Given the description of an element on the screen output the (x, y) to click on. 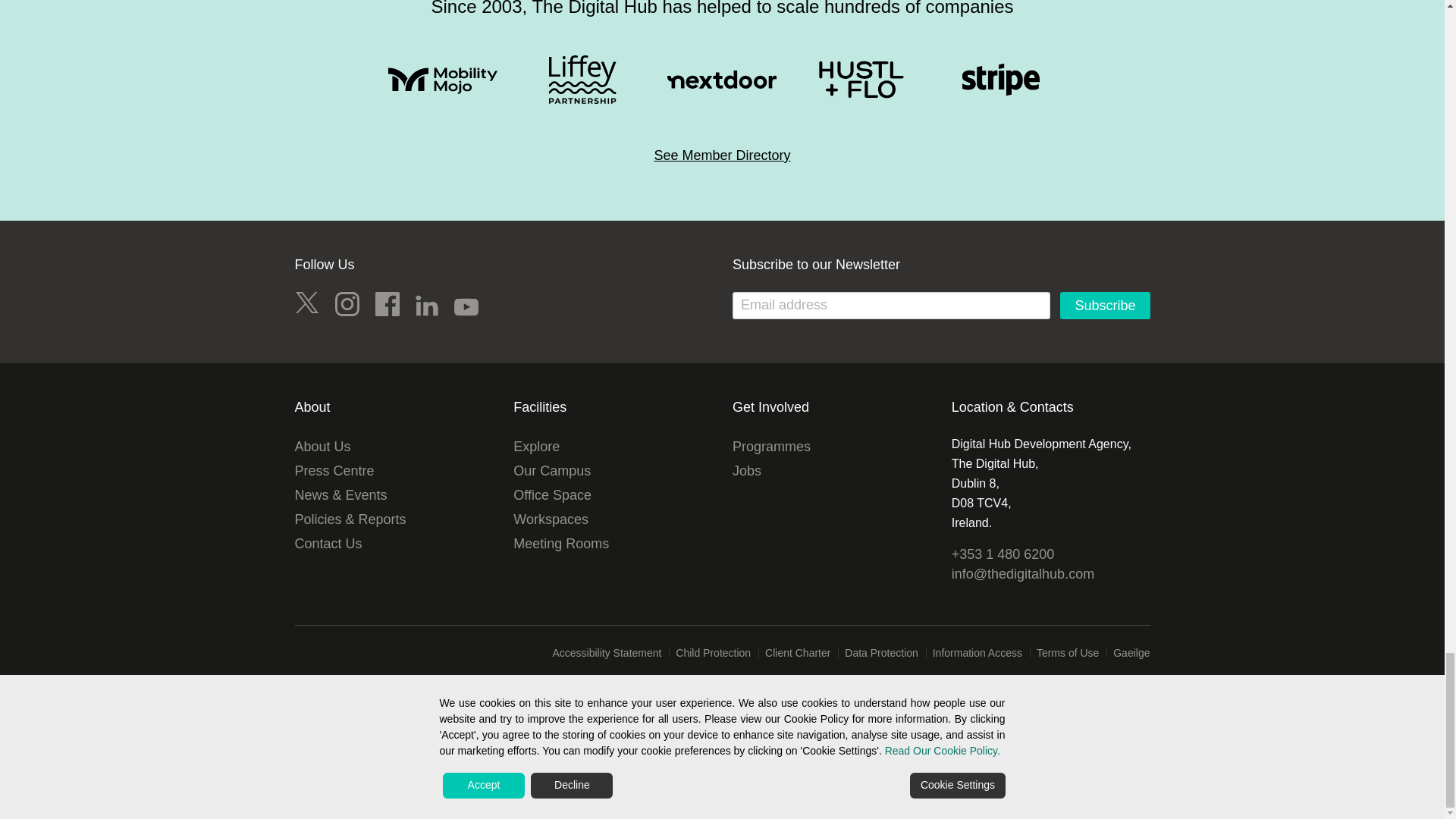
Twitter X (306, 303)
Instagram (346, 303)
LinkedIn (426, 305)
YouTube (466, 307)
Subscribe (1104, 305)
Facebook (386, 303)
See Member Directory (721, 155)
